Given the description of an element on the screen output the (x, y) to click on. 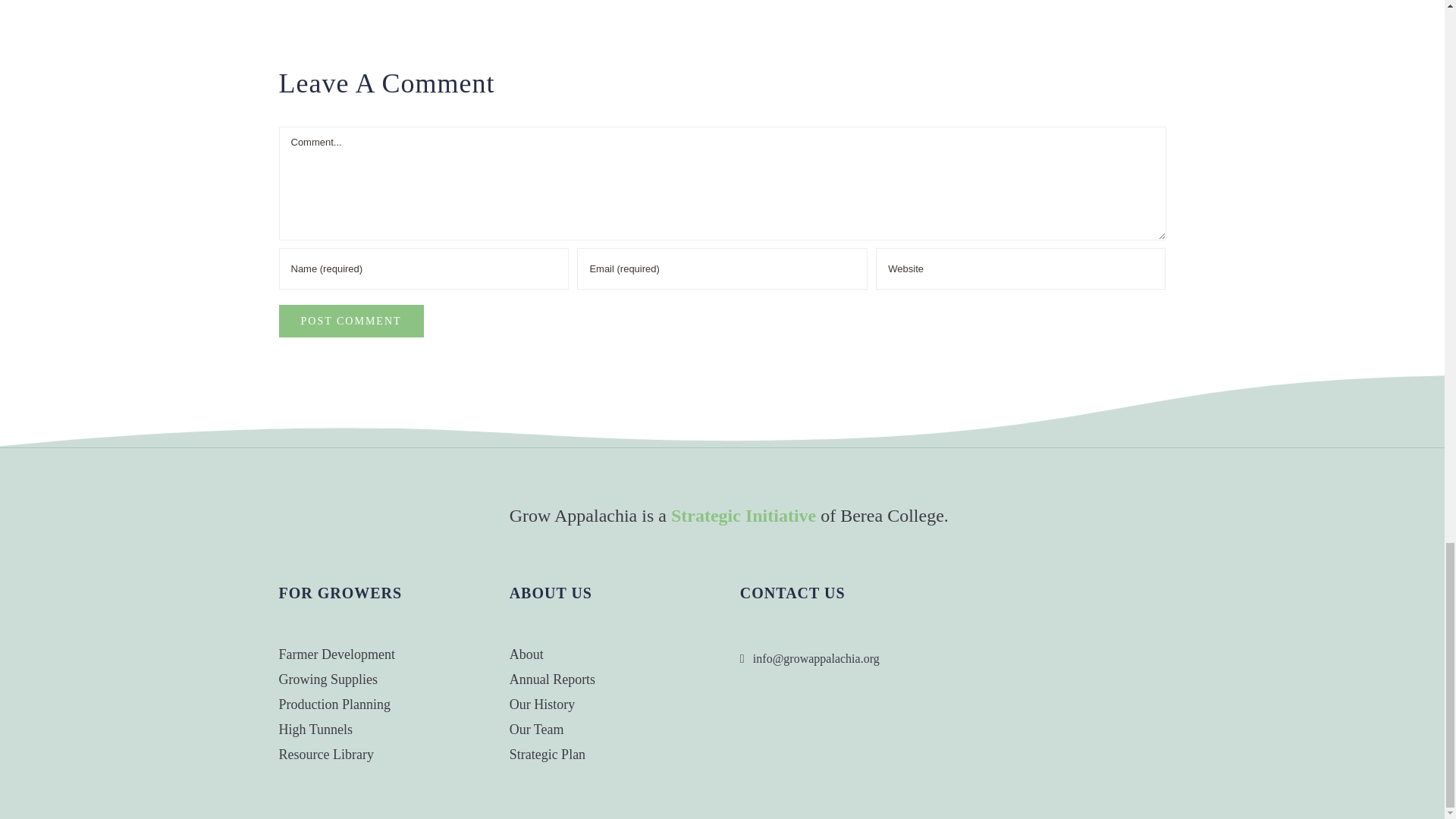
Post Comment (351, 320)
